Given the description of an element on the screen output the (x, y) to click on. 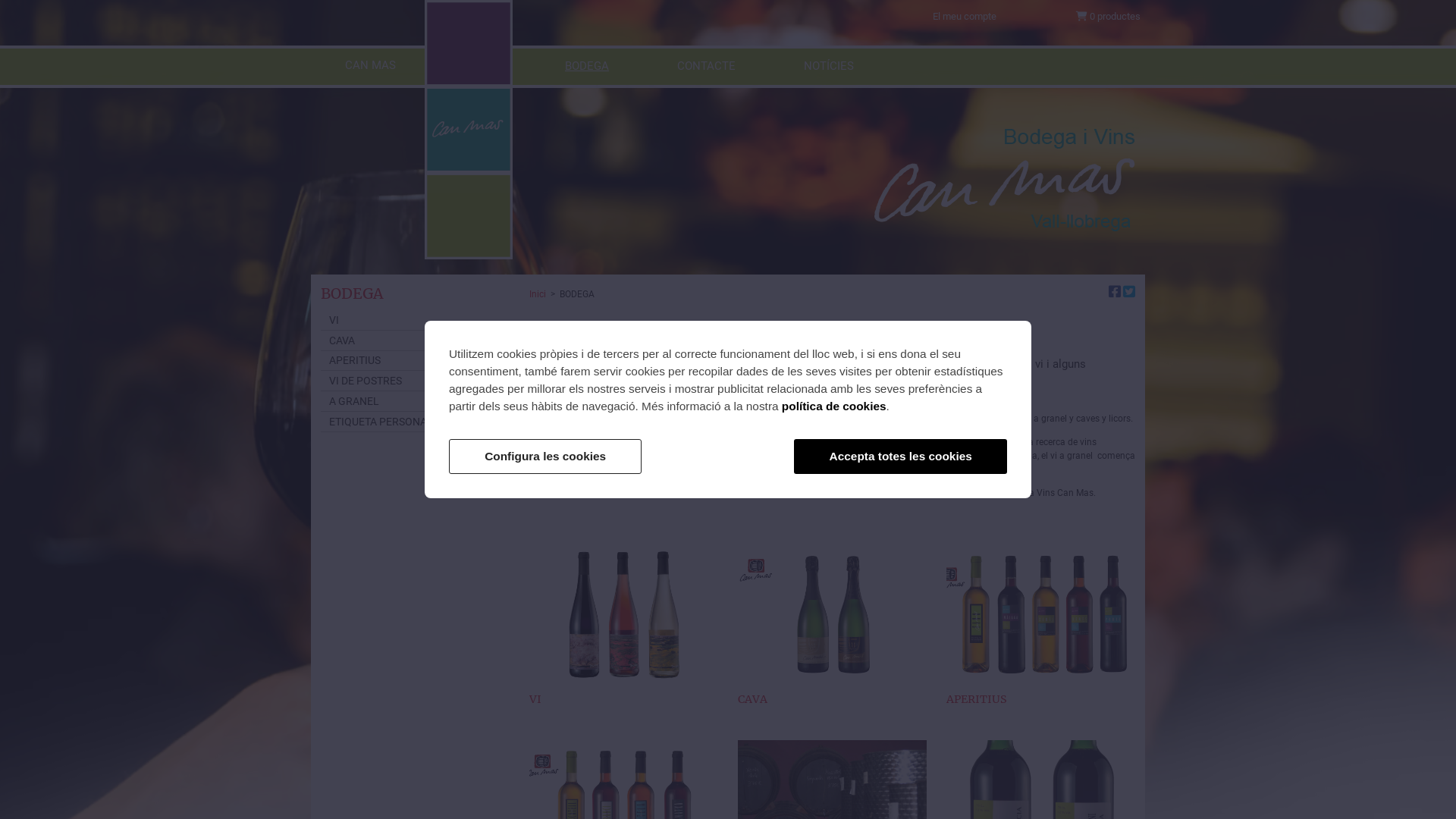
Compartir a Twitter Element type: text (1129, 292)
Inici Element type: text (539, 293)
CONTACTE Element type: text (706, 67)
Accepta totes les cookies Element type: text (900, 456)
VI Element type: text (623, 632)
APERITIUS Element type: text (414, 361)
APERITIUS Element type: text (1040, 632)
Vins Can Mas Element type: hover (468, 129)
El meu compte Element type: text (964, 16)
A GRANEL Element type: text (414, 401)
VI Element type: text (414, 320)
Compartir a Facebook Element type: text (1114, 292)
VI DE POSTRES Element type: text (414, 380)
CAN MAS Element type: text (370, 66)
CAVA Element type: text (414, 340)
ETIQUETA PERSONALITZADA Element type: text (414, 421)
CAVA Element type: text (831, 632)
0 productes Element type: text (1107, 16)
Configura les cookies Element type: text (544, 456)
BODEGA Element type: text (586, 67)
